Given the description of an element on the screen output the (x, y) to click on. 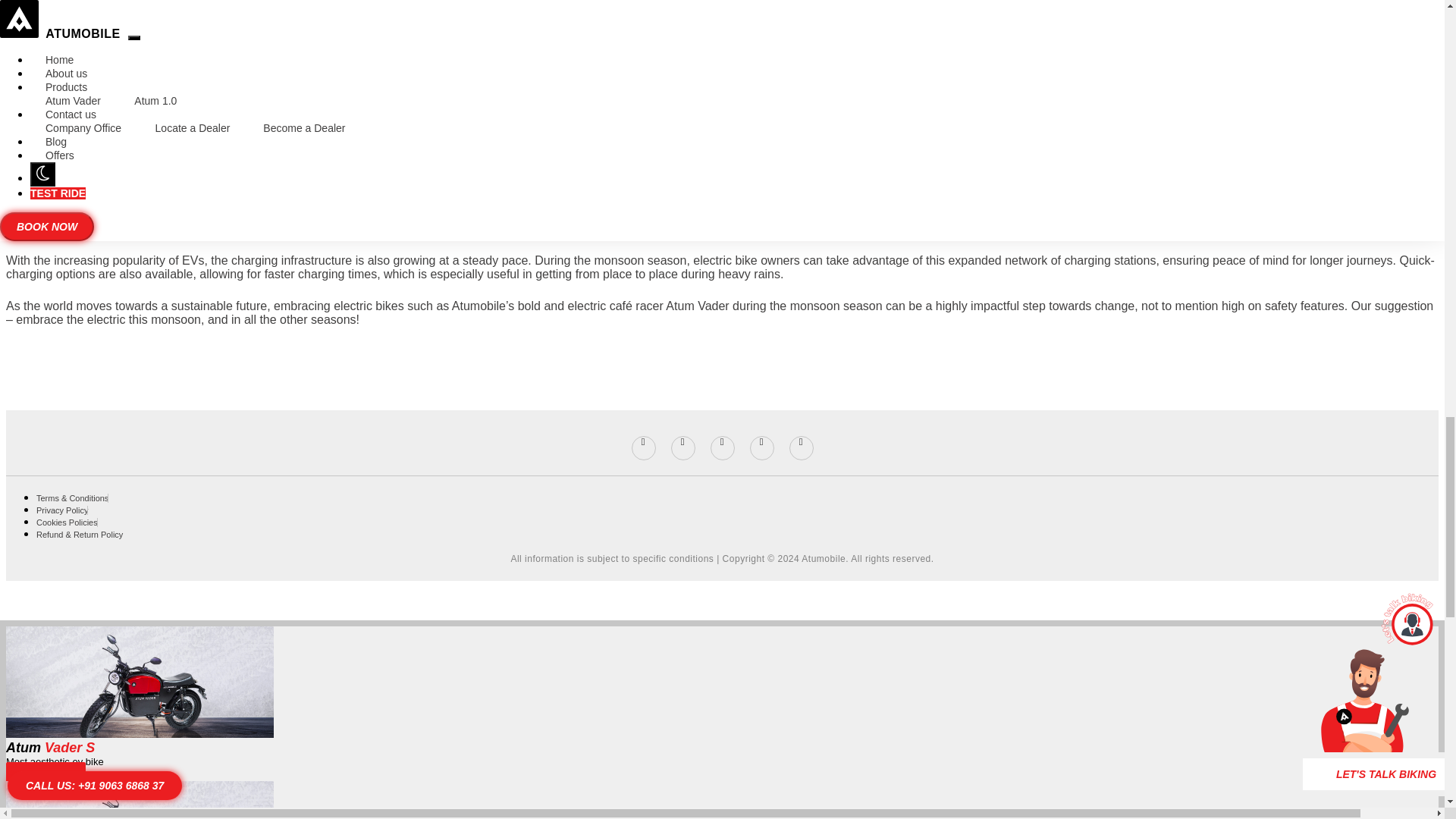
BOOK NOW (45, 774)
Privacy Policy (61, 510)
Cookies Policies (66, 522)
